Given the description of an element on the screen output the (x, y) to click on. 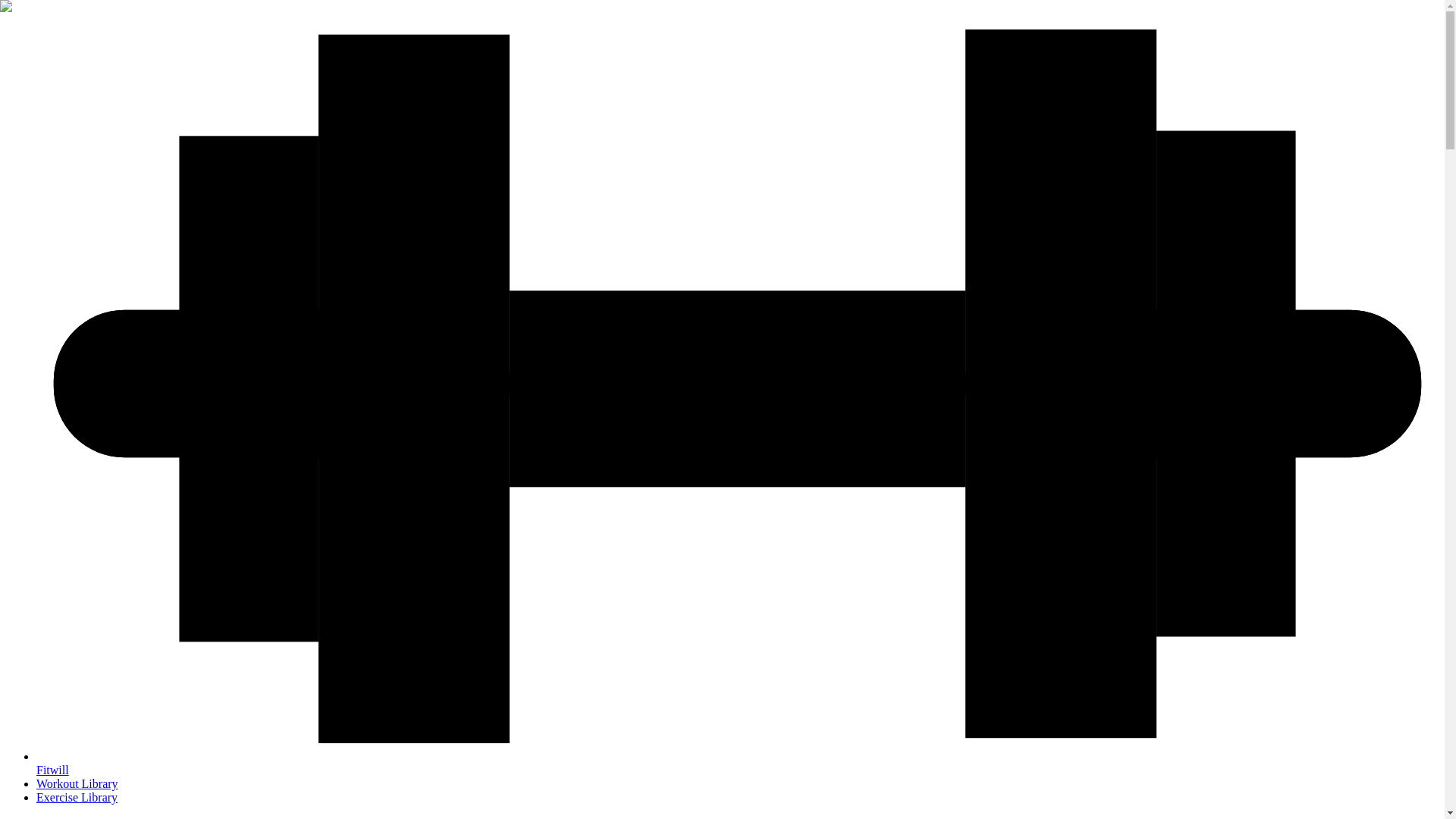
Exercise Library (76, 797)
Workout Library (76, 783)
